Given the description of an element on the screen output the (x, y) to click on. 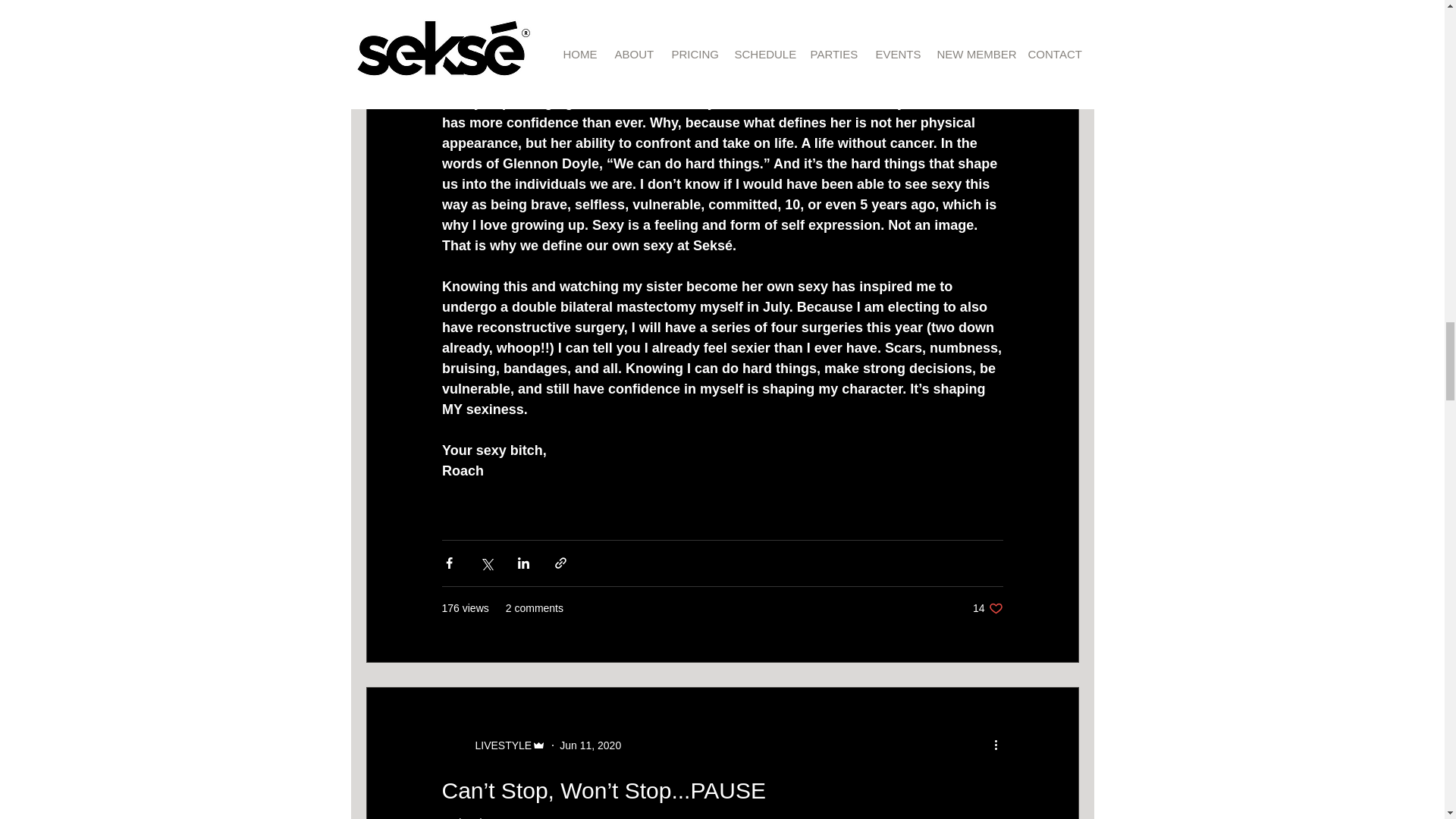
LIVESTYLE (498, 745)
2 comments (534, 608)
Jun 11, 2020 (987, 608)
Jun 19, 2020 (590, 745)
LIVESTYLE (517, 817)
